Given the description of an element on the screen output the (x, y) to click on. 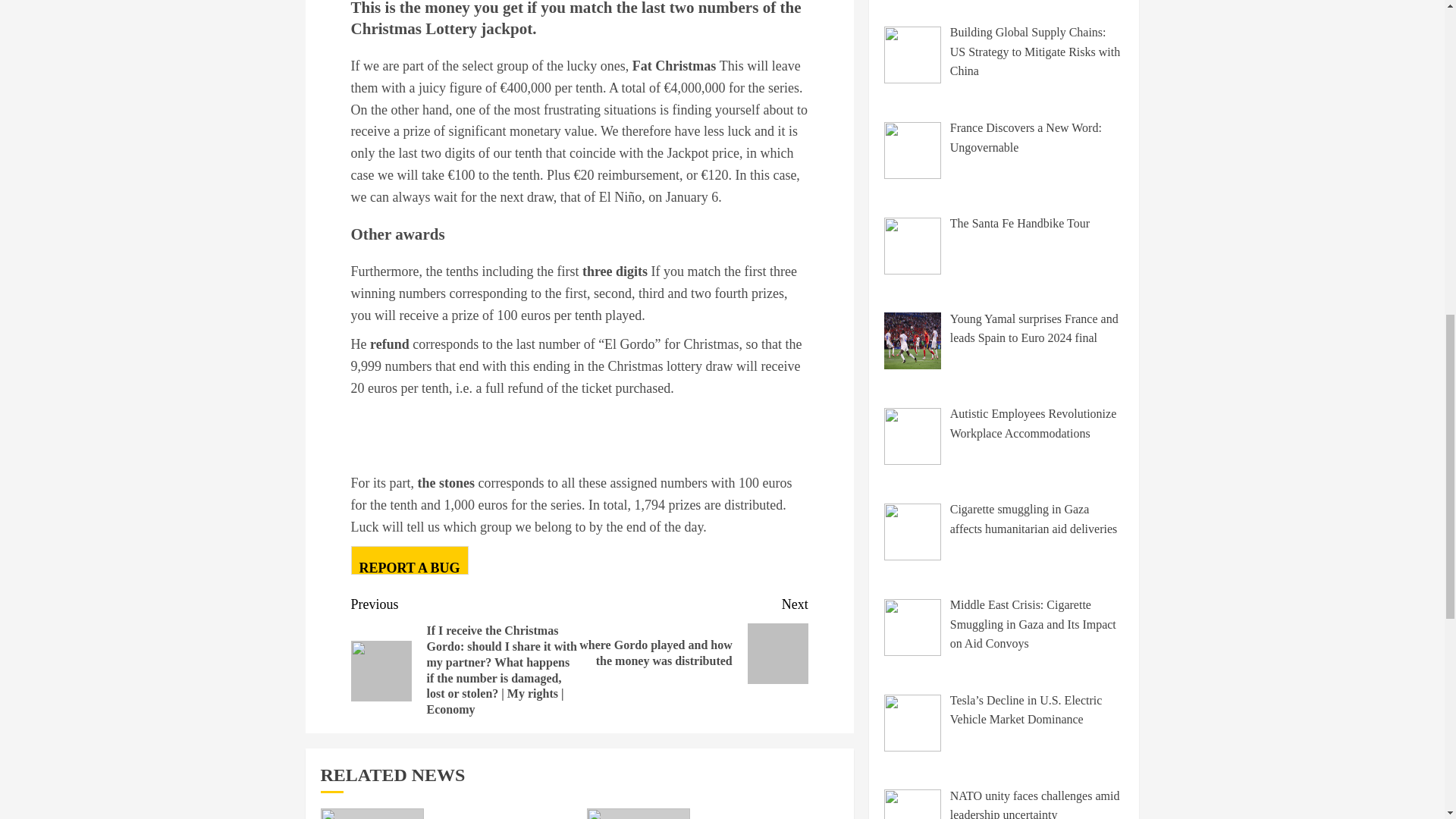
Autistic Employees Revolutionize Workplace Accommodations (1033, 423)
France Discovers a New Word: Ungovernable (1026, 137)
REPORT A BUG (408, 560)
The Santa Fe Handbike Tour (1019, 223)
